Given the description of an element on the screen output the (x, y) to click on. 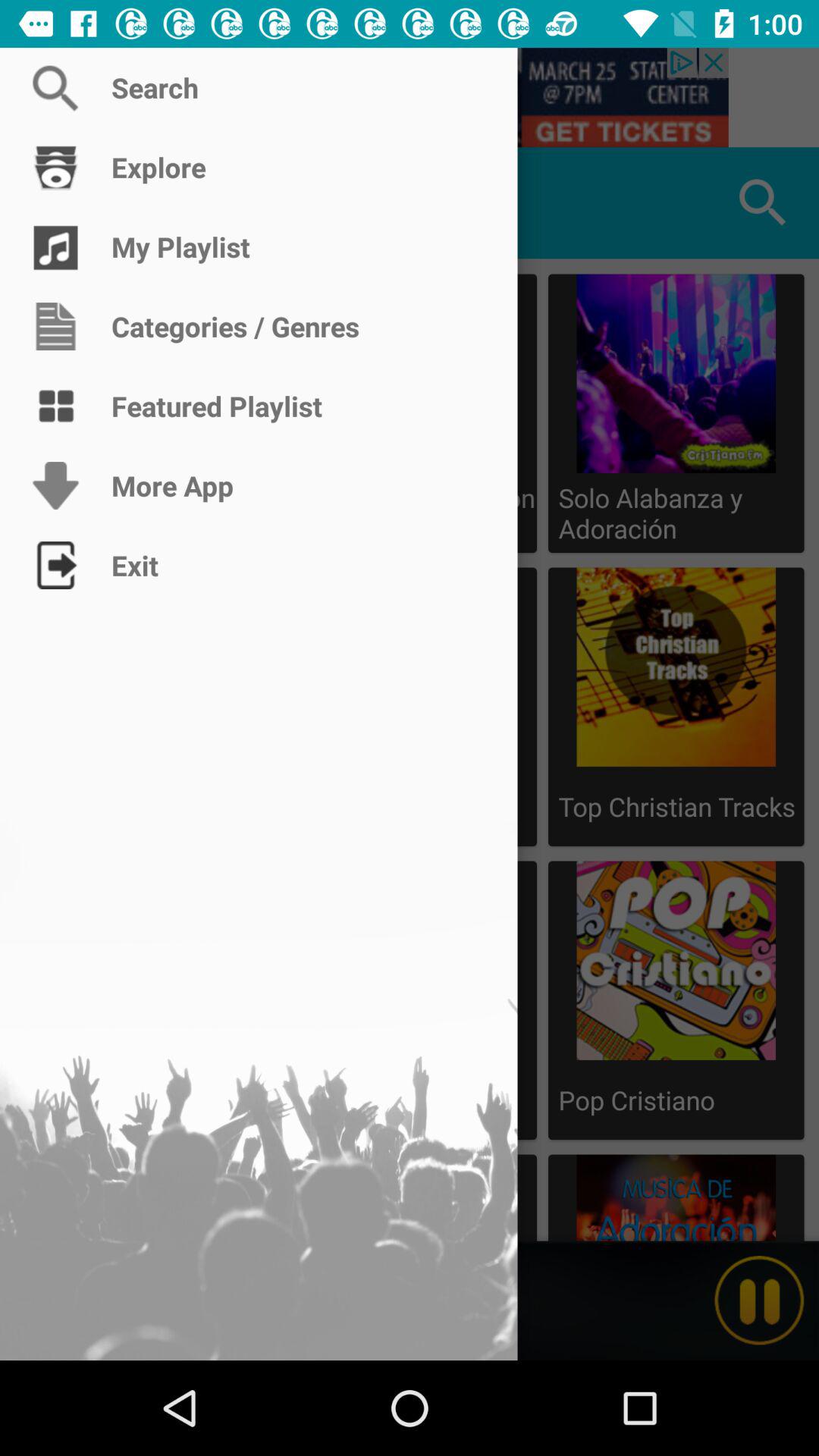
review available music (55, 202)
